Given the description of an element on the screen output the (x, y) to click on. 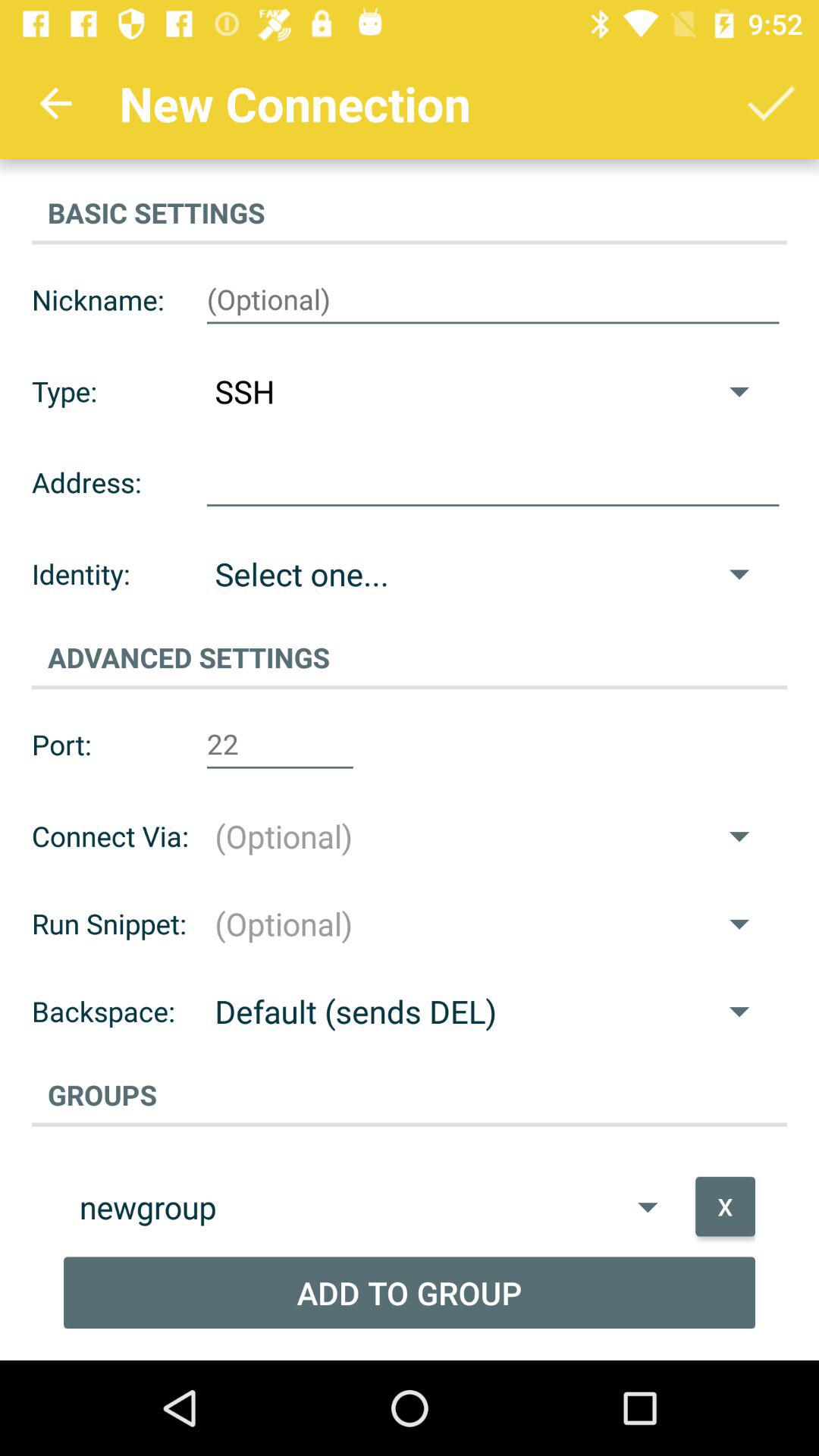
writting to the name in box (493, 299)
